Given the description of an element on the screen output the (x, y) to click on. 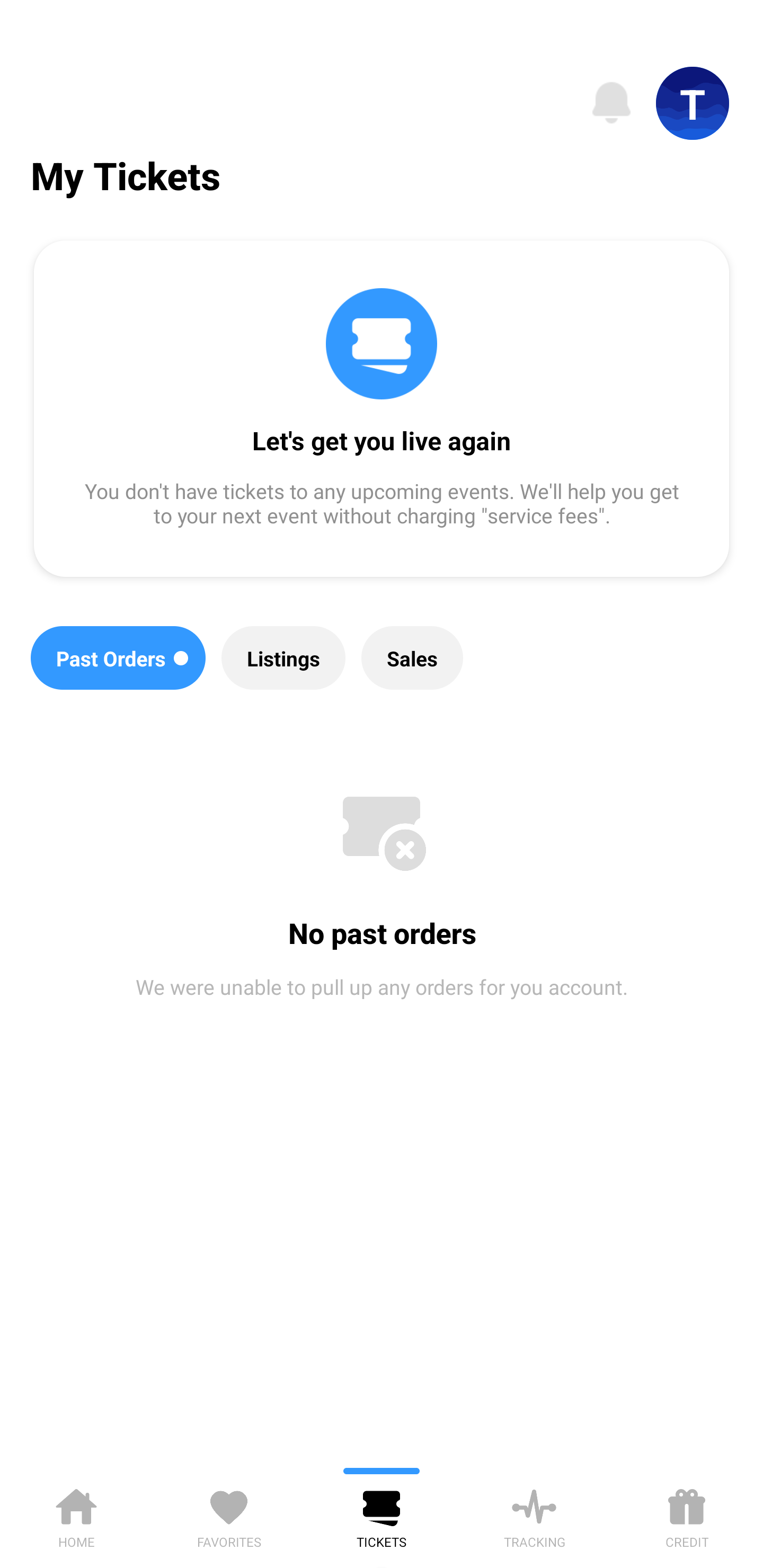
T (692, 103)
Past Orders (117, 657)
Listings (283, 657)
Sales (412, 657)
HOME (76, 1515)
FAVORITES (228, 1515)
TICKETS (381, 1515)
TRACKING (533, 1515)
CREDIT (686, 1515)
